Given the description of an element on the screen output the (x, y) to click on. 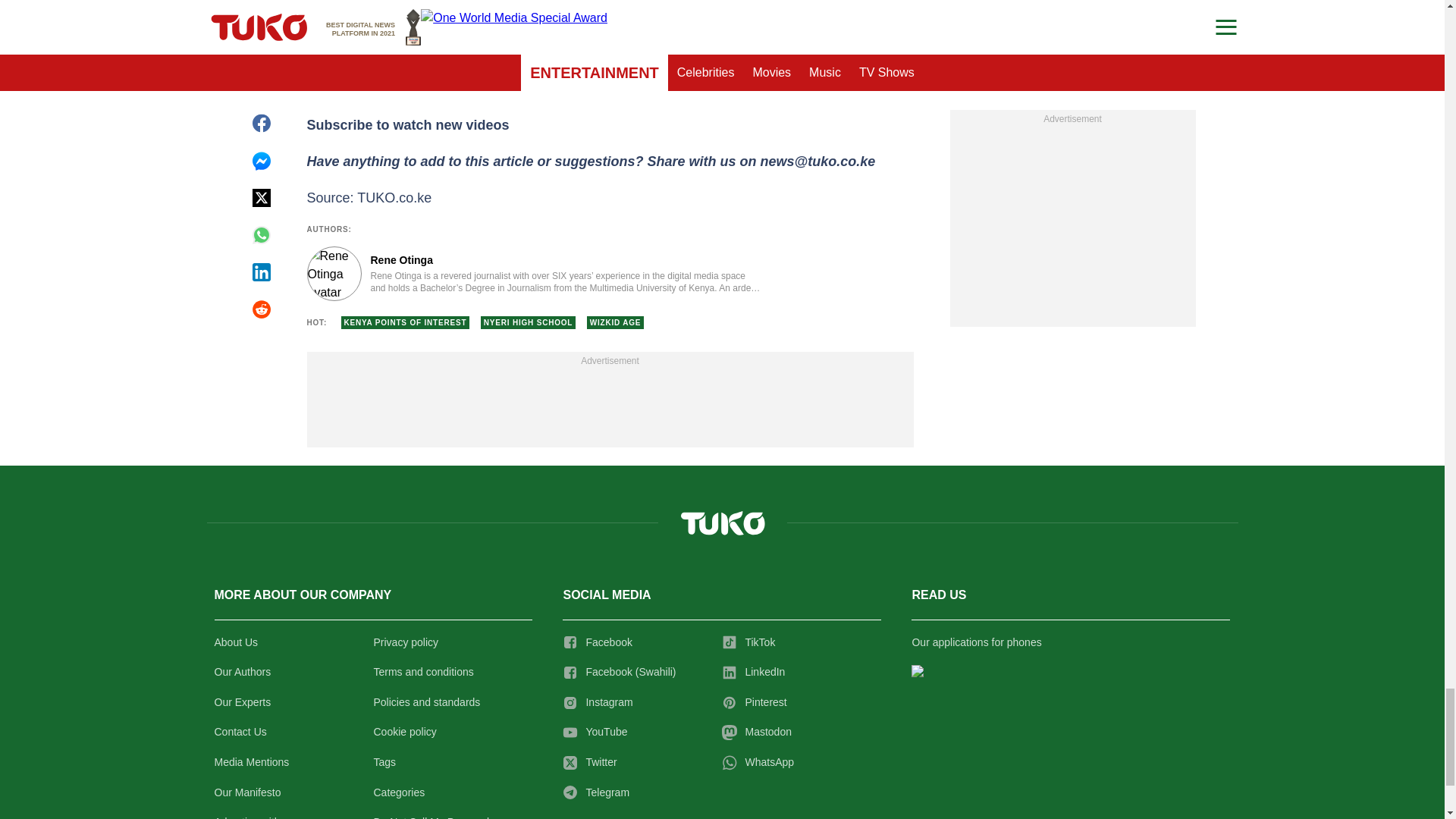
Author page (533, 273)
